Given the description of an element on the screen output the (x, y) to click on. 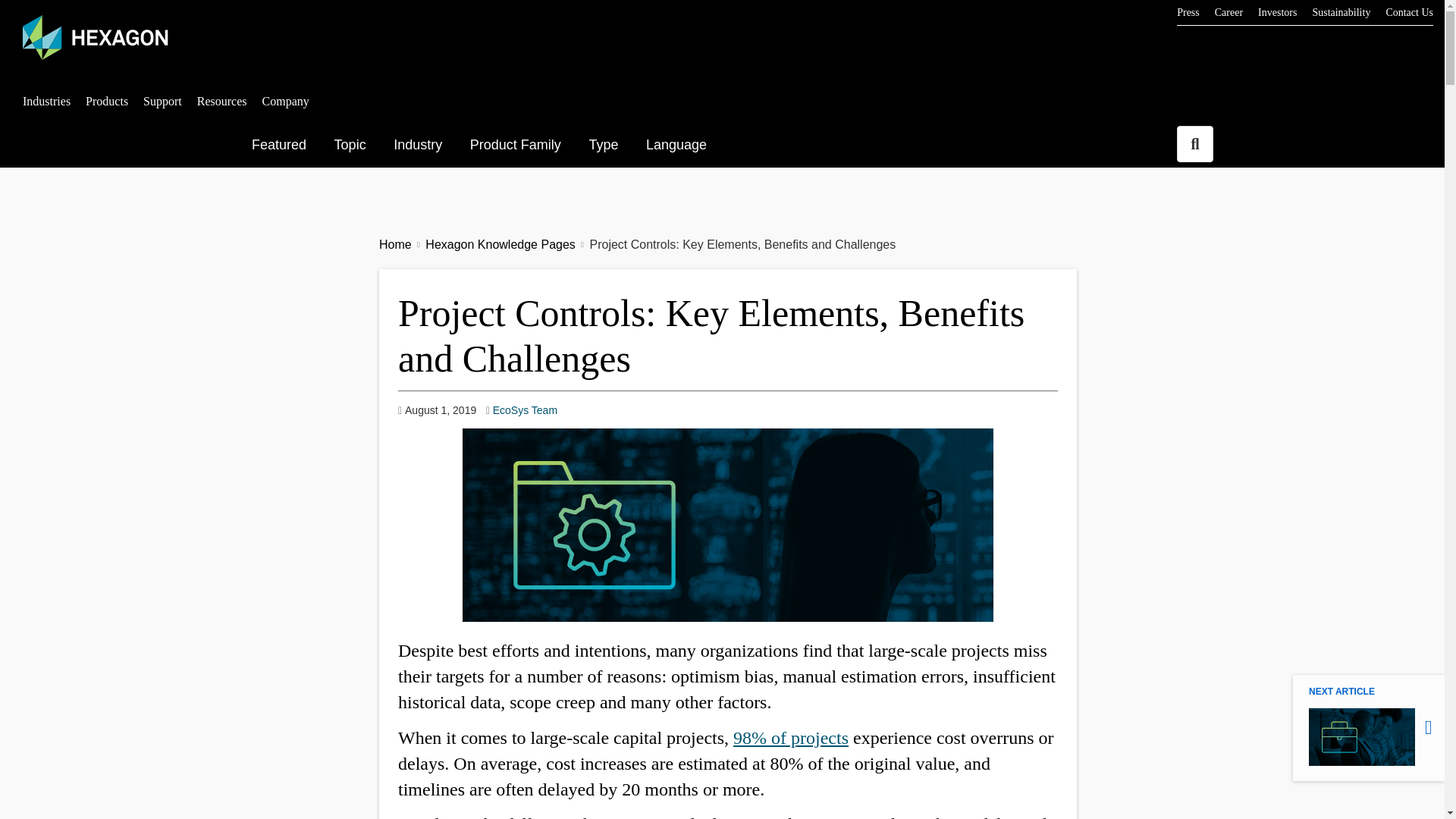
Published Date (436, 410)
Career (1228, 12)
Support (162, 101)
Open Search Box (1194, 144)
Press (1187, 12)
Industries (46, 101)
Resources (221, 101)
Contact Us (351, 144)
Investors (1409, 12)
